Given the description of an element on the screen output the (x, y) to click on. 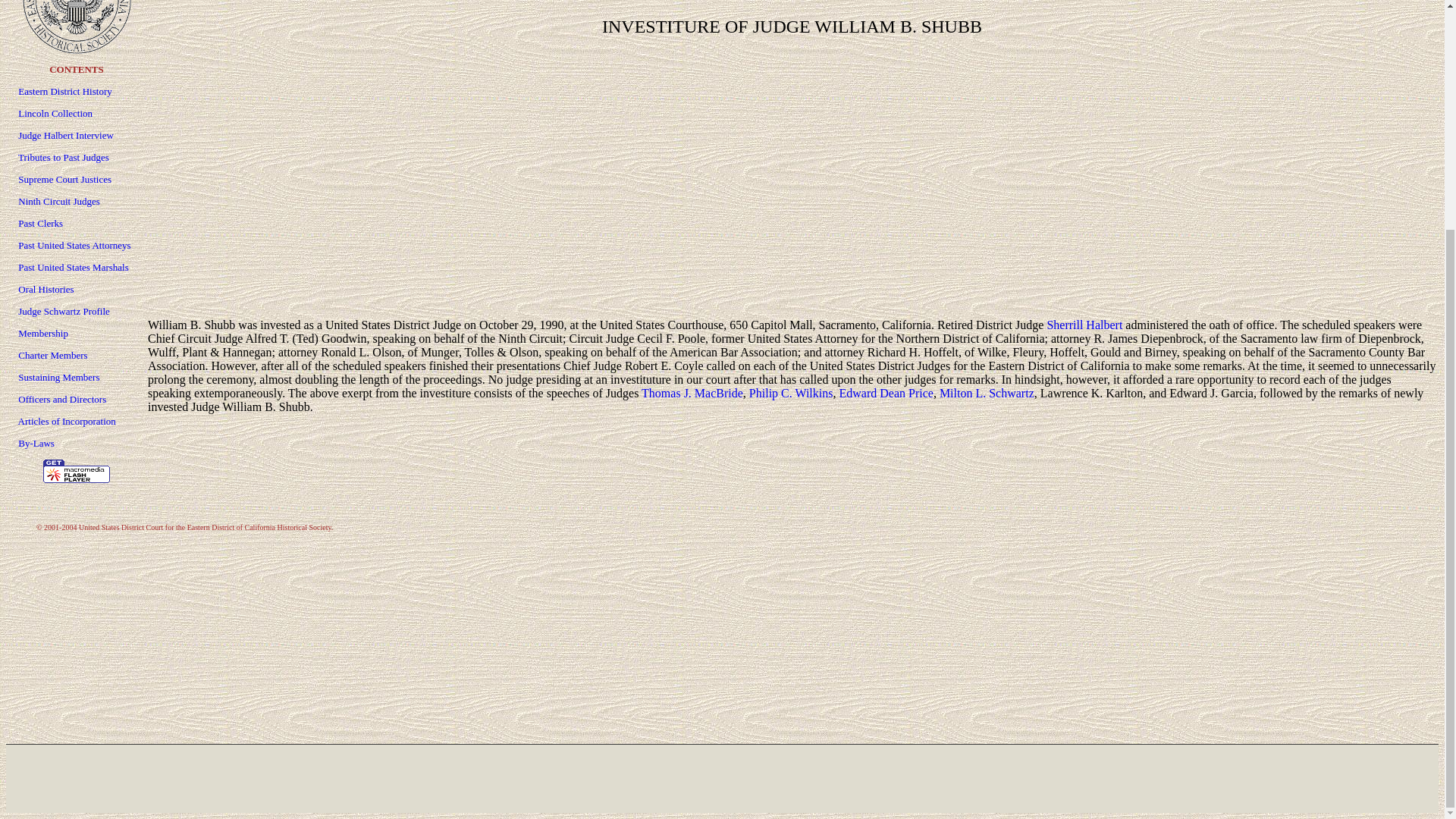
Ninth Circuit Judges (58, 201)
Judge Halbert Interview (65, 134)
Oral Histories (45, 288)
Past Clerks (39, 223)
Charter Members (52, 355)
Thomas J. MacBride (692, 392)
By-Laws (36, 442)
Past United States Marshals (73, 266)
Membership (42, 333)
Judge Schwartz Profile (63, 310)
Eastern District History (64, 91)
Edward Dean Price (885, 392)
Sustaining Members (58, 377)
Lincoln Collection (55, 112)
Past United States Attorneys (74, 244)
